Given the description of an element on the screen output the (x, y) to click on. 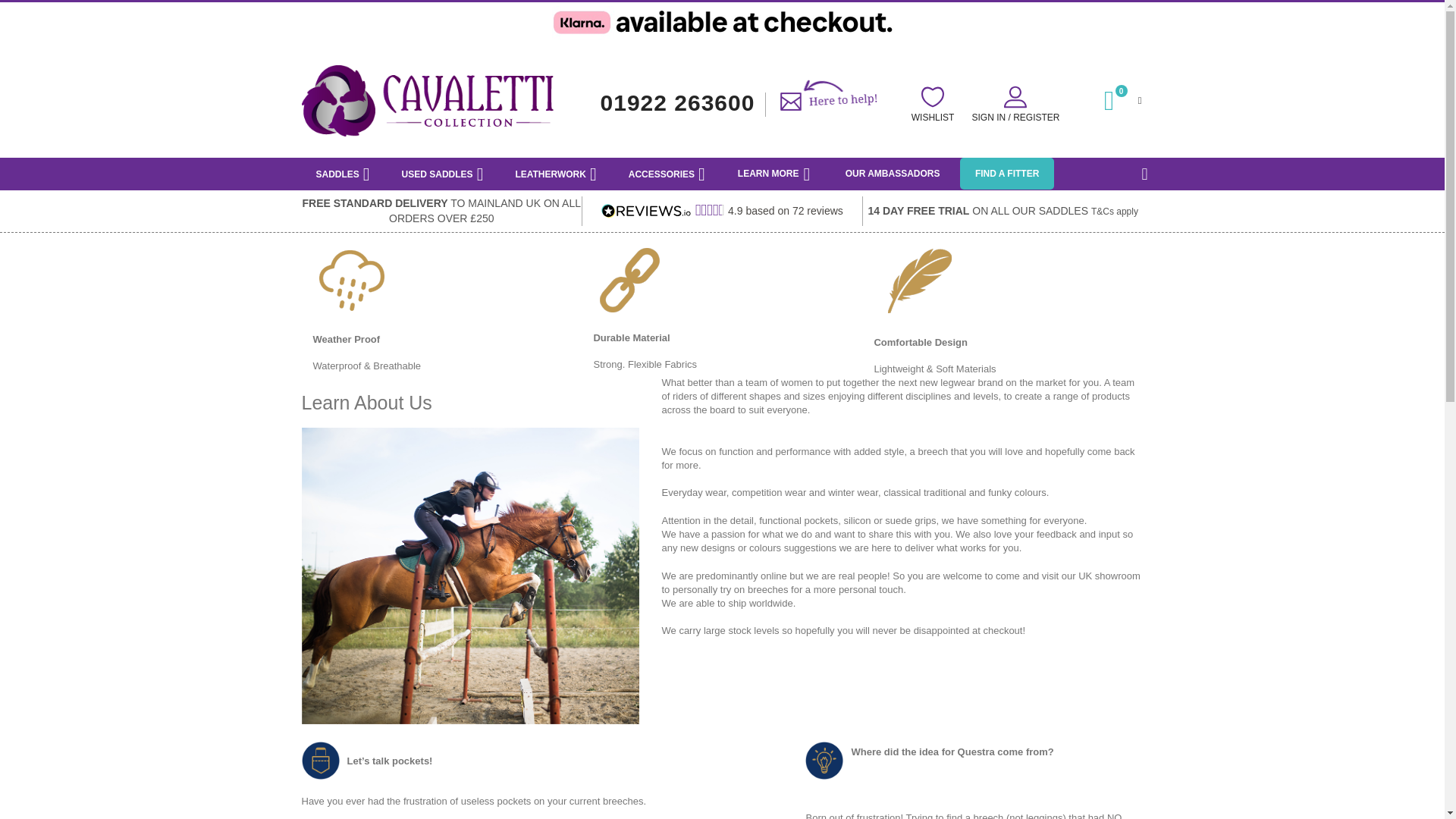
Leatherwork (555, 174)
Used Saddles (443, 174)
01922 263600 (677, 102)
USED SADDLES (443, 174)
WISHLIST (933, 103)
SADDLES (343, 174)
LEATHERWORK (555, 174)
Saddles (343, 174)
